Given the description of an element on the screen output the (x, y) to click on. 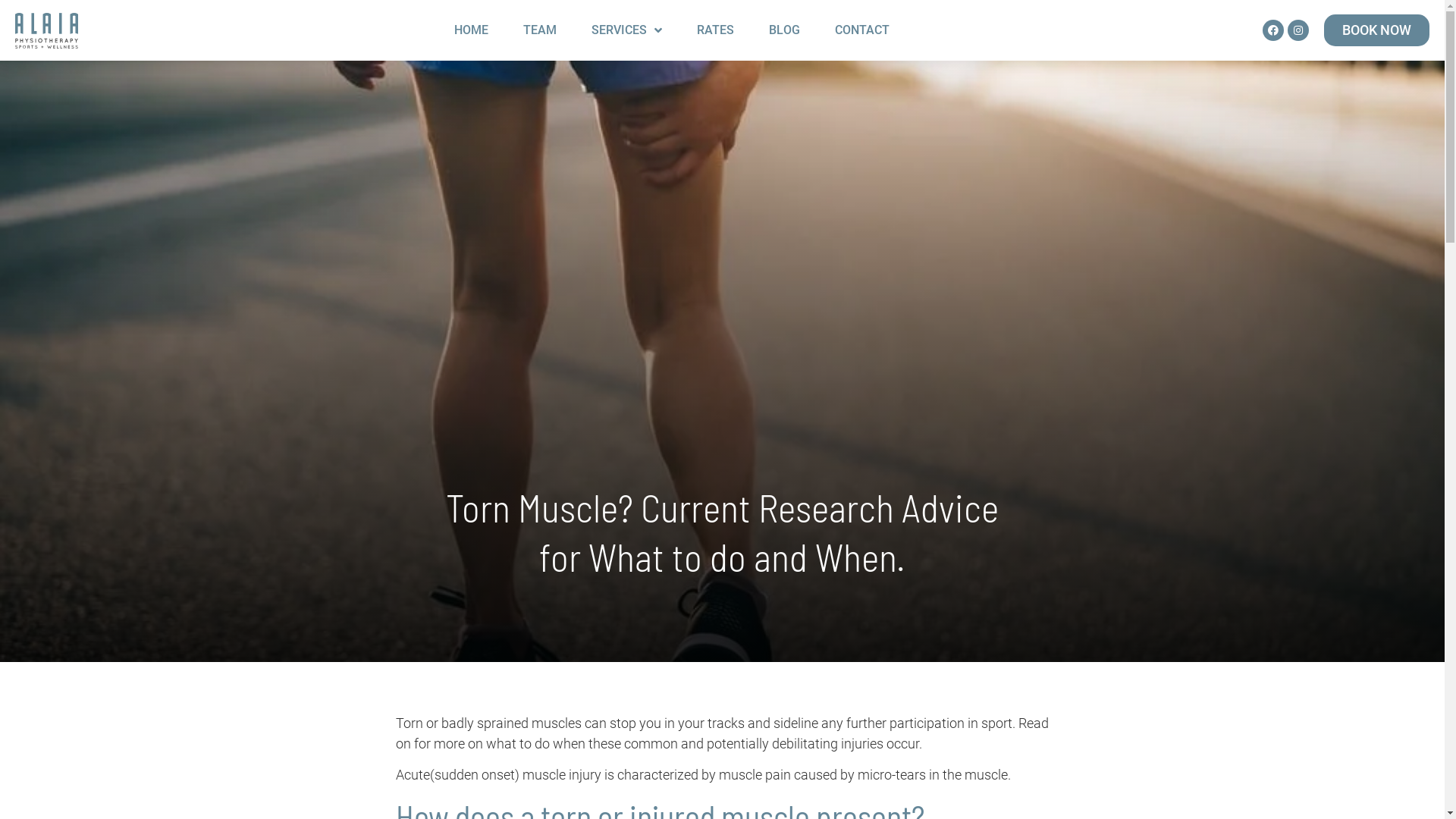
HOME Element type: text (471, 30)
BOOK NOW Element type: text (1376, 30)
CONTACT Element type: text (861, 30)
SERVICES Element type: text (626, 30)
BLOG Element type: text (784, 30)
RATES Element type: text (715, 30)
TEAM Element type: text (539, 30)
